Given the description of an element on the screen output the (x, y) to click on. 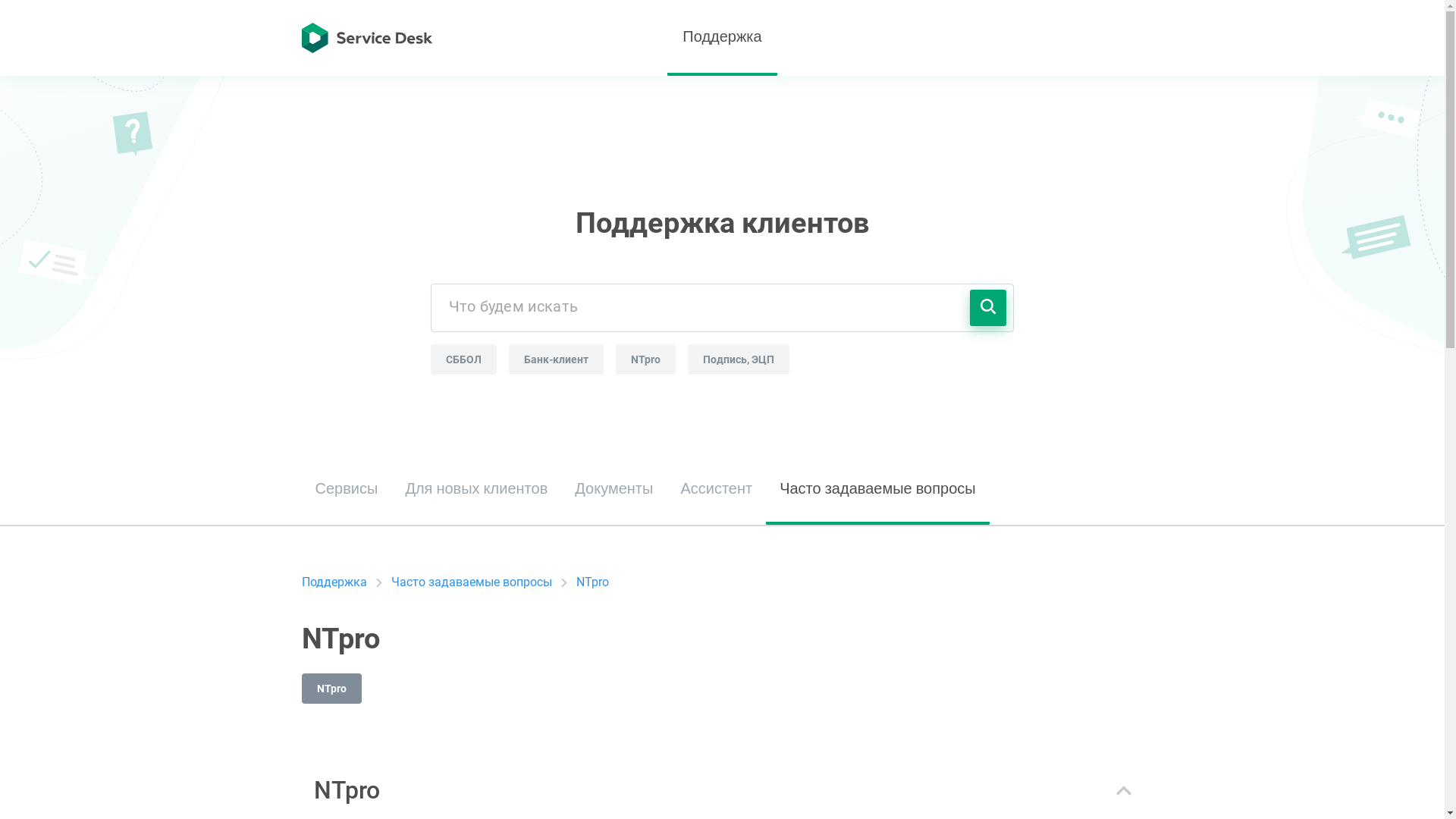
NTpro Element type: text (331, 688)
NTpro Element type: text (592, 581)
NTpro Element type: text (645, 359)
